Given the description of an element on the screen output the (x, y) to click on. 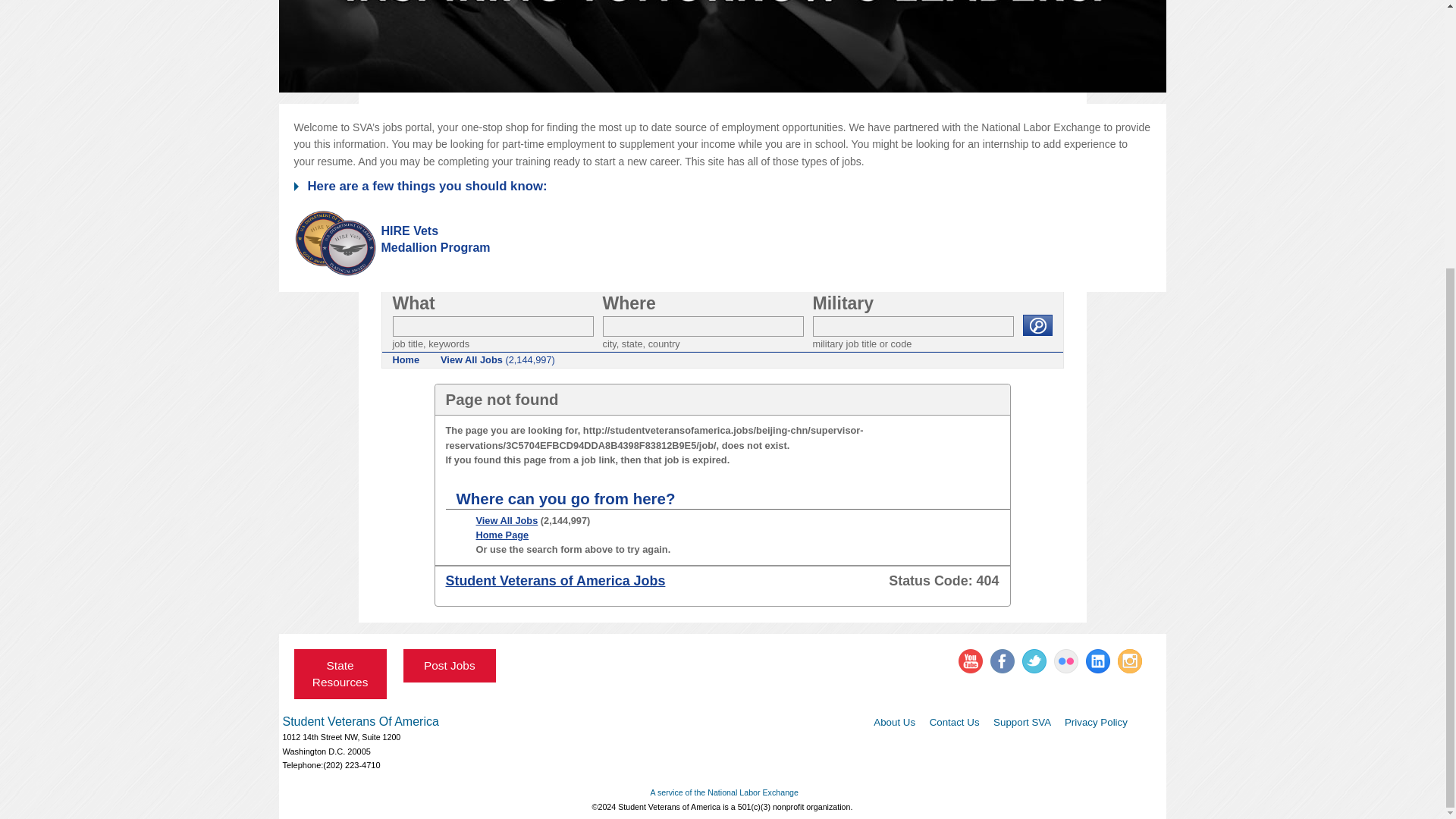
Flickr (1066, 661)
Facebook (1002, 661)
View All Jobs (507, 520)
Instagram (1129, 661)
search (1036, 324)
YouTube (970, 661)
Facebook (1002, 661)
LinkedIn (1097, 661)
Submit Search (1036, 324)
 Support SVA (1019, 722)
Search Location (702, 326)
A service of the National Labor Exchange (723, 791)
Home (405, 359)
Home Page (502, 534)
Twitter (1034, 661)
